Given the description of an element on the screen output the (x, y) to click on. 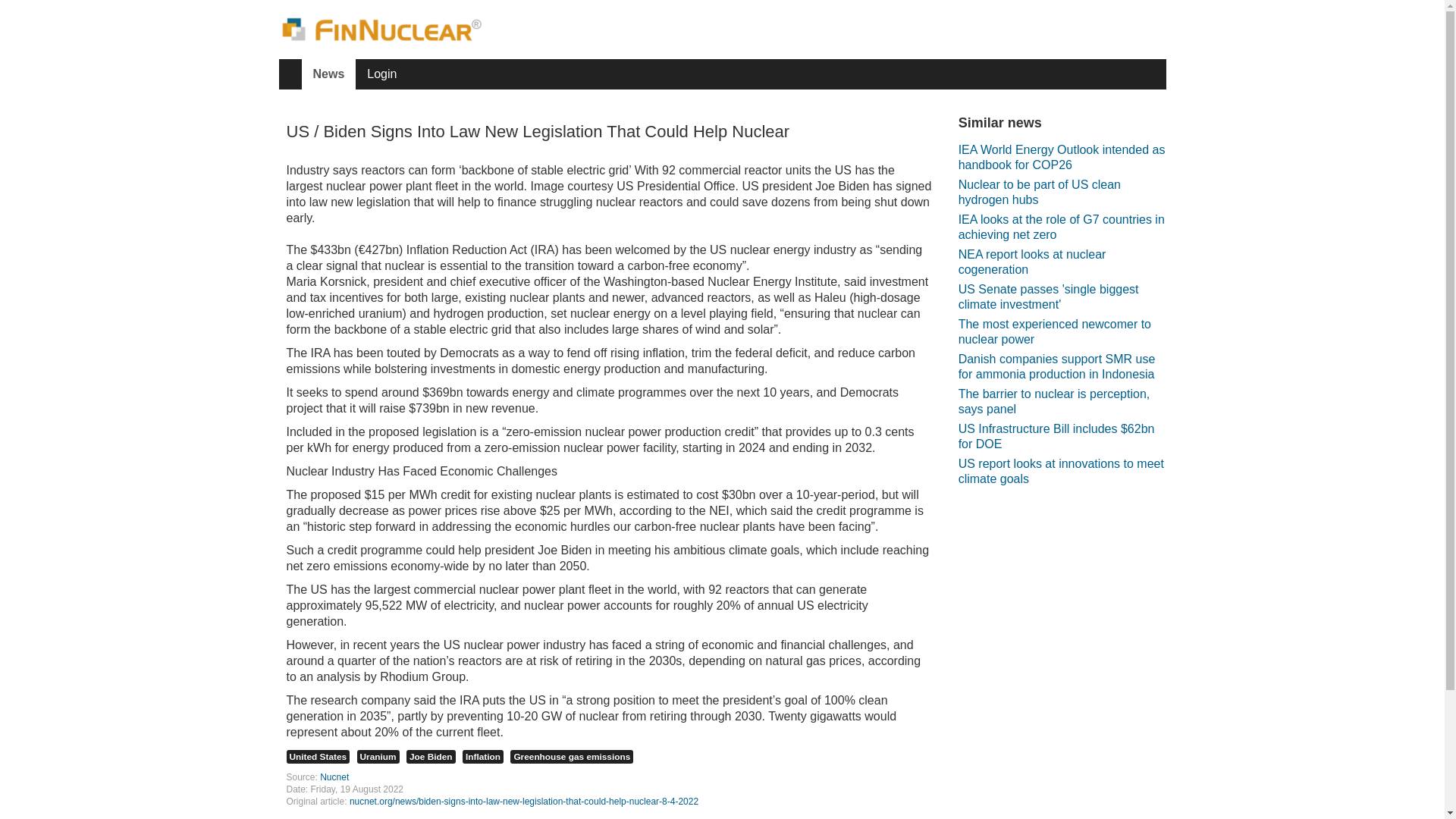
The barrier to nuclear is perception, says panel (1062, 401)
Uranium (377, 756)
United States (318, 756)
Joe Biden (430, 756)
Nucnet (334, 777)
NEA report looks at nuclear cogeneration (1062, 262)
News (328, 73)
Greenhouse gas emissions (572, 756)
Login (381, 73)
US Senate passes 'single biggest climate investment' (1062, 297)
